Given the description of an element on the screen output the (x, y) to click on. 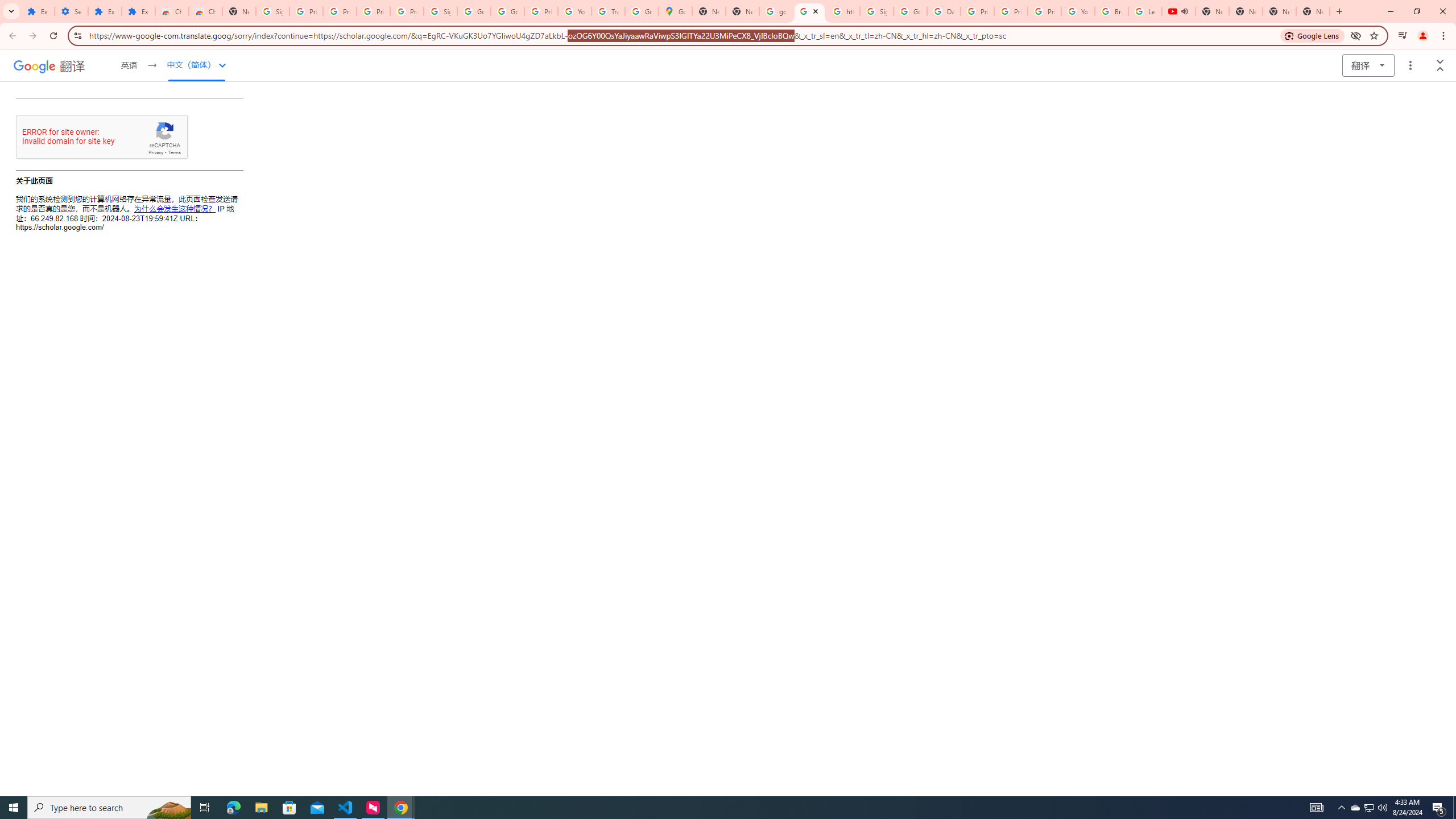
Chrome Web Store - Themes (205, 11)
Privacy Help Center - Policies Help (1010, 11)
Extensions (37, 11)
New Tab (238, 11)
